Given the description of an element on the screen output the (x, y) to click on. 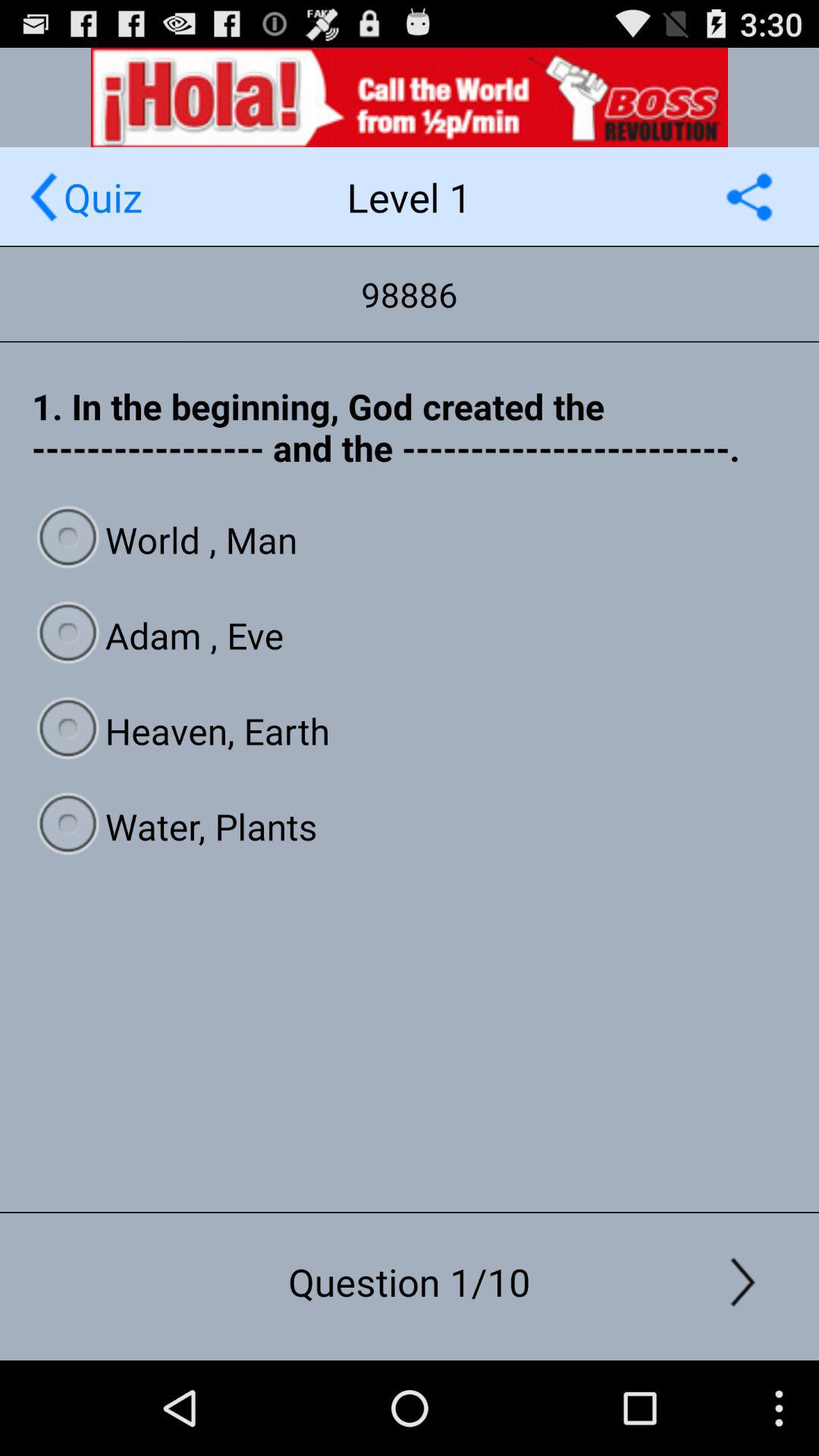
go to page (43, 196)
